Given the description of an element on the screen output the (x, y) to click on. 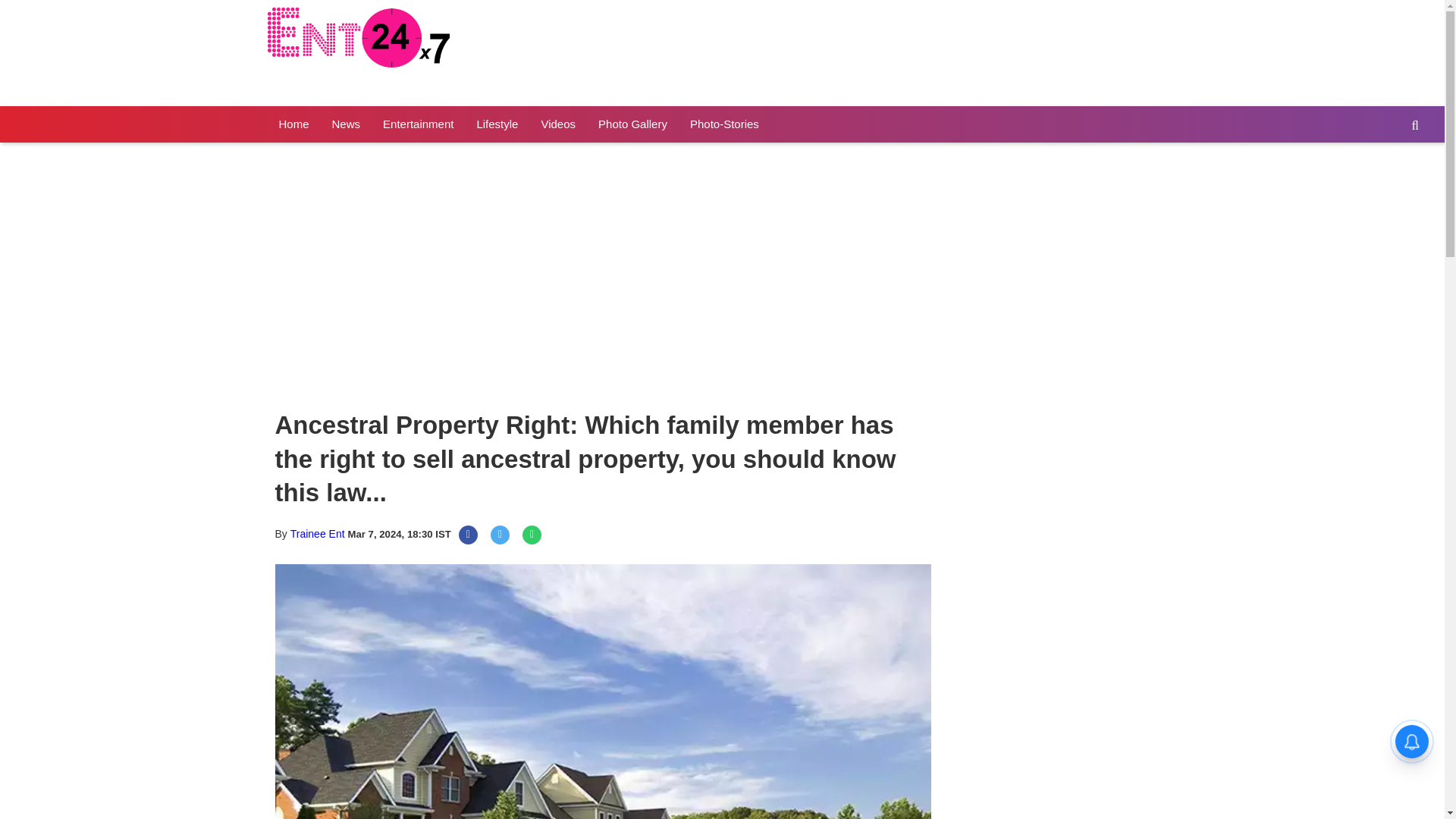
Home (293, 124)
News (346, 124)
YouTube video player (478, 277)
Photo-Stories (724, 124)
Entertainment (417, 124)
Trainee Ent (317, 533)
Lifestyle (496, 124)
Videos (557, 124)
Photo Gallery (632, 124)
